Given the description of an element on the screen output the (x, y) to click on. 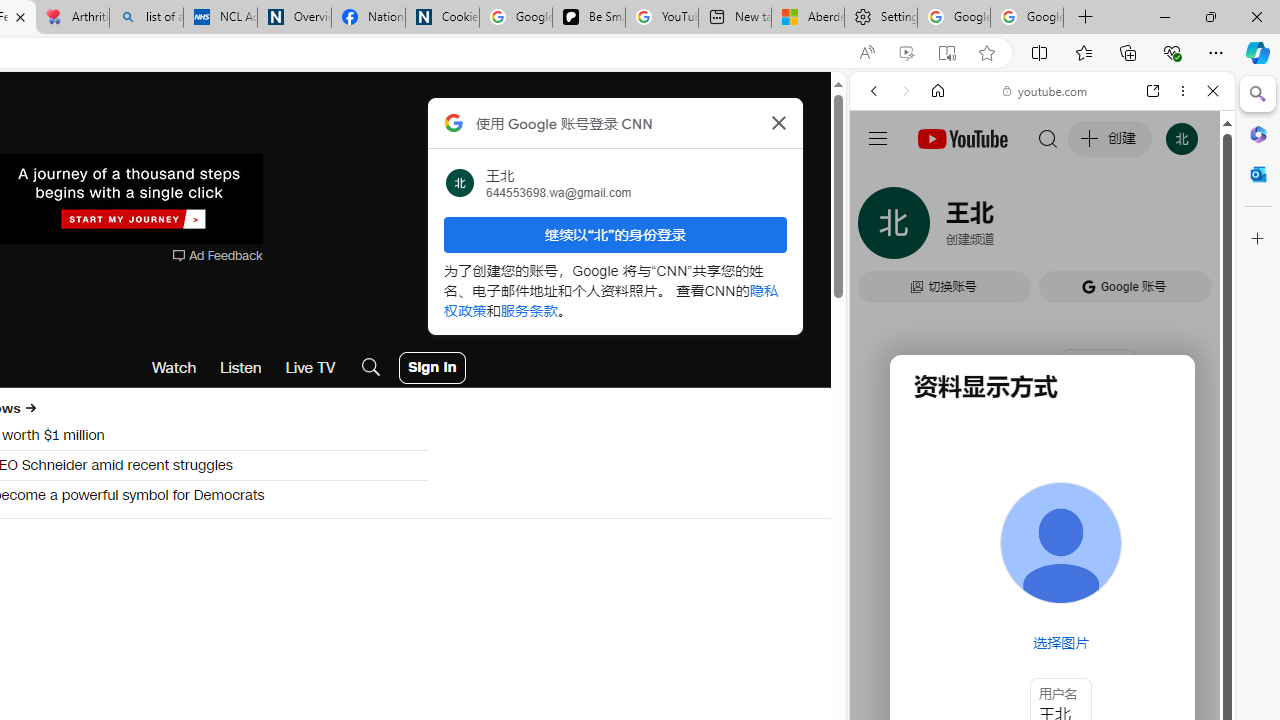
VIDEOS (1006, 228)
Search Filter, VIDEOS (1006, 228)
Arthritis: Ask Health Professionals (71, 17)
Search Filter, WEB (882, 228)
list of asthma inhalers uk - Search (146, 17)
#you (1042, 445)
Class: b_serphb (1190, 229)
Class: Bz112c Bz112c-r9oPif (778, 122)
Aberdeen, Hong Kong SAR hourly forecast | Microsoft Weather (807, 17)
Listen (241, 367)
NCL Adult Asthma Inhaler Choice Guideline (220, 17)
